Given the description of an element on the screen output the (x, y) to click on. 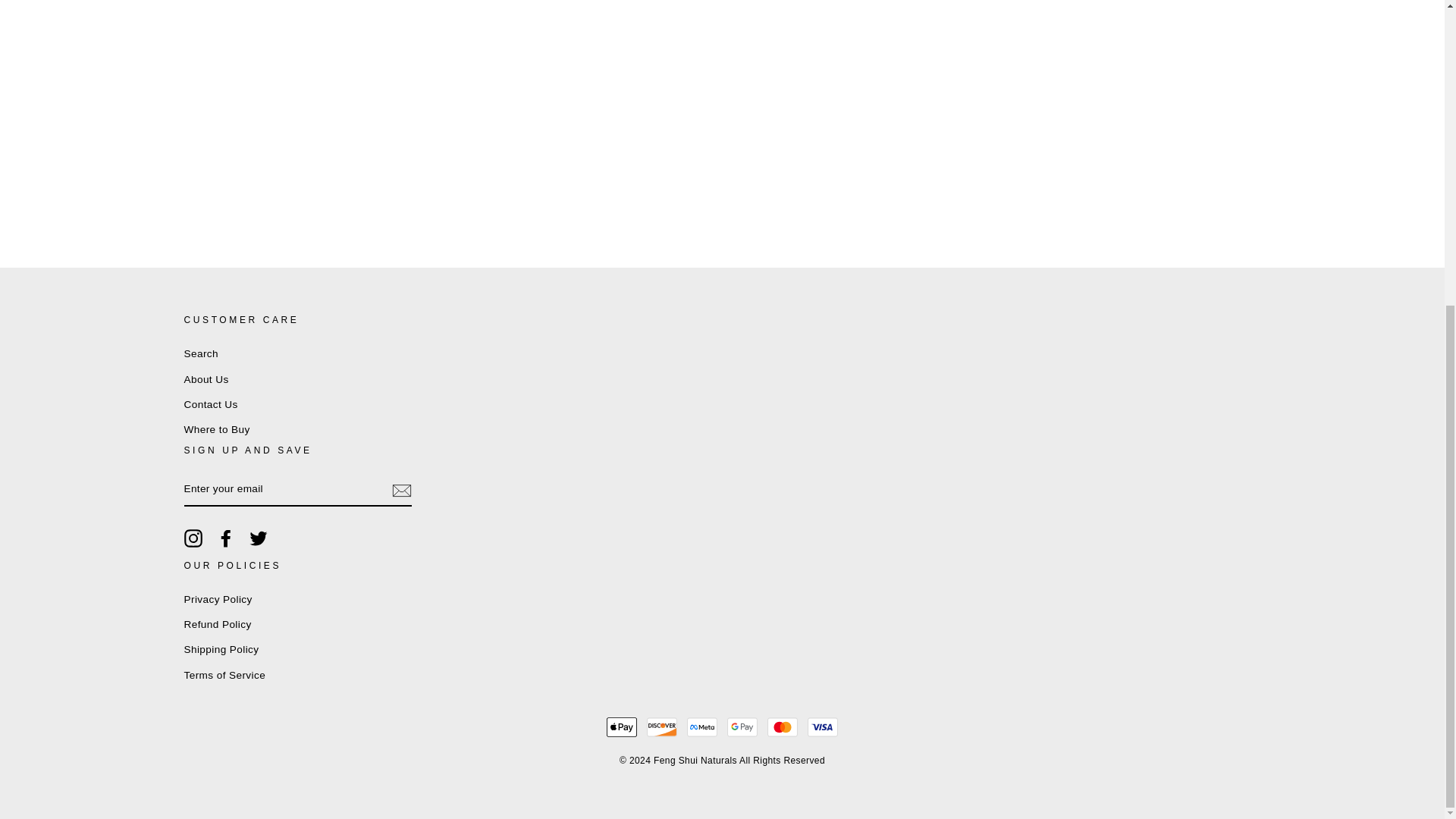
Feng Shui Naturals on Facebook (225, 538)
Meta Pay (702, 726)
Search (199, 354)
Instagram (192, 538)
Feng Shui Naturals on Instagram (192, 538)
About Us (205, 379)
Facebook (225, 538)
Discover (661, 726)
Where to Buy (215, 429)
Contact Us (210, 404)
Feng Shui Naturals on Twitter (257, 538)
Twitter (257, 538)
Google Pay (741, 726)
Mastercard (782, 726)
Apple Pay (622, 726)
